Given the description of an element on the screen output the (x, y) to click on. 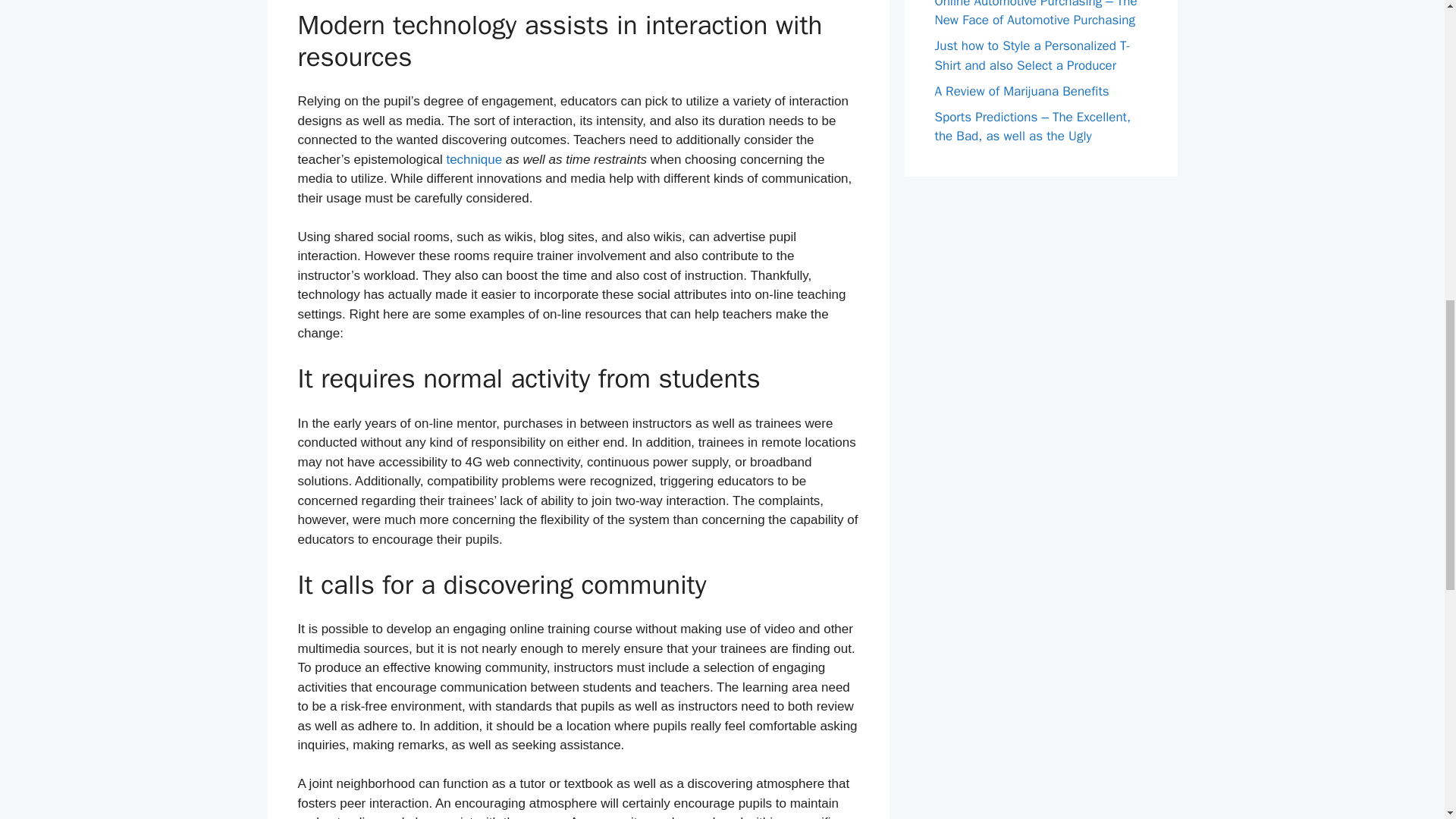
technique (473, 159)
A Review of Marijuana Benefits (1021, 91)
